Given the description of an element on the screen output the (x, y) to click on. 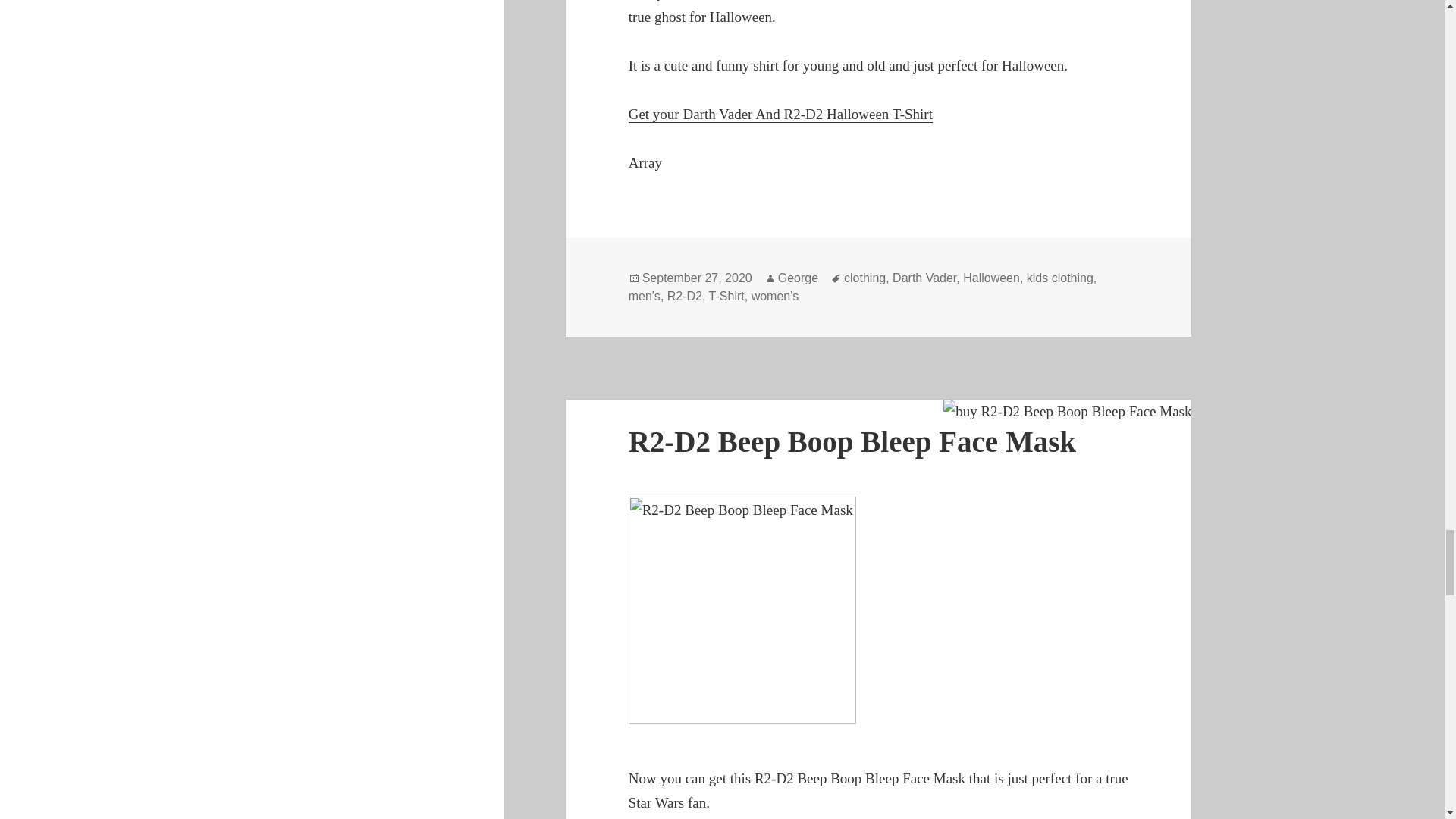
buy R2-D2 Beep Boop Bleep Face Mask (1067, 411)
